Given the description of an element on the screen output the (x, y) to click on. 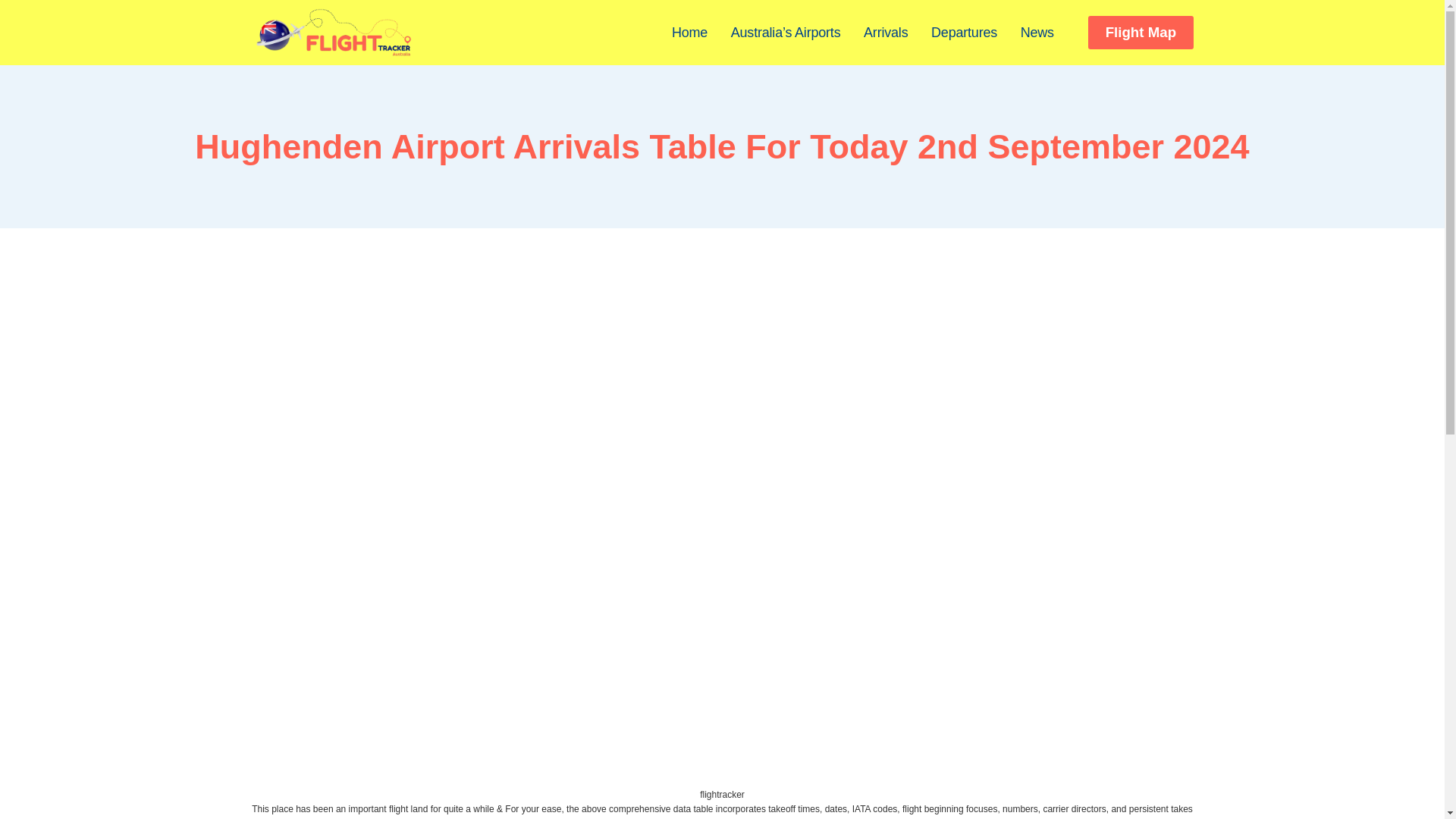
flightracker (722, 794)
flightracker (722, 794)
News (1037, 31)
Departures (964, 31)
Arrivals (885, 31)
Flight Map (1139, 32)
Home (690, 31)
